Given the description of an element on the screen output the (x, y) to click on. 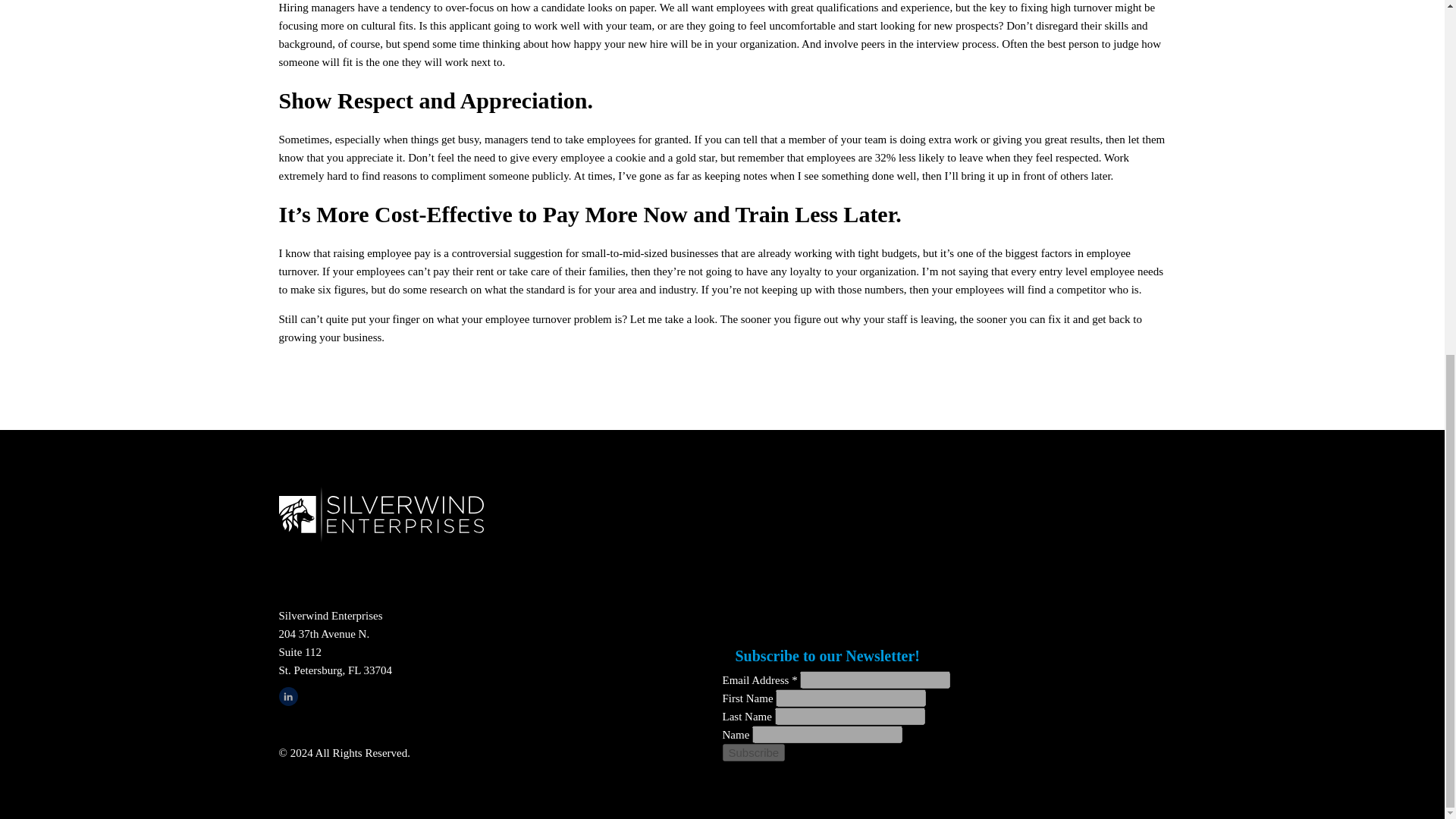
Subscribe (753, 752)
Subscribe (753, 752)
